Given the description of an element on the screen output the (x, y) to click on. 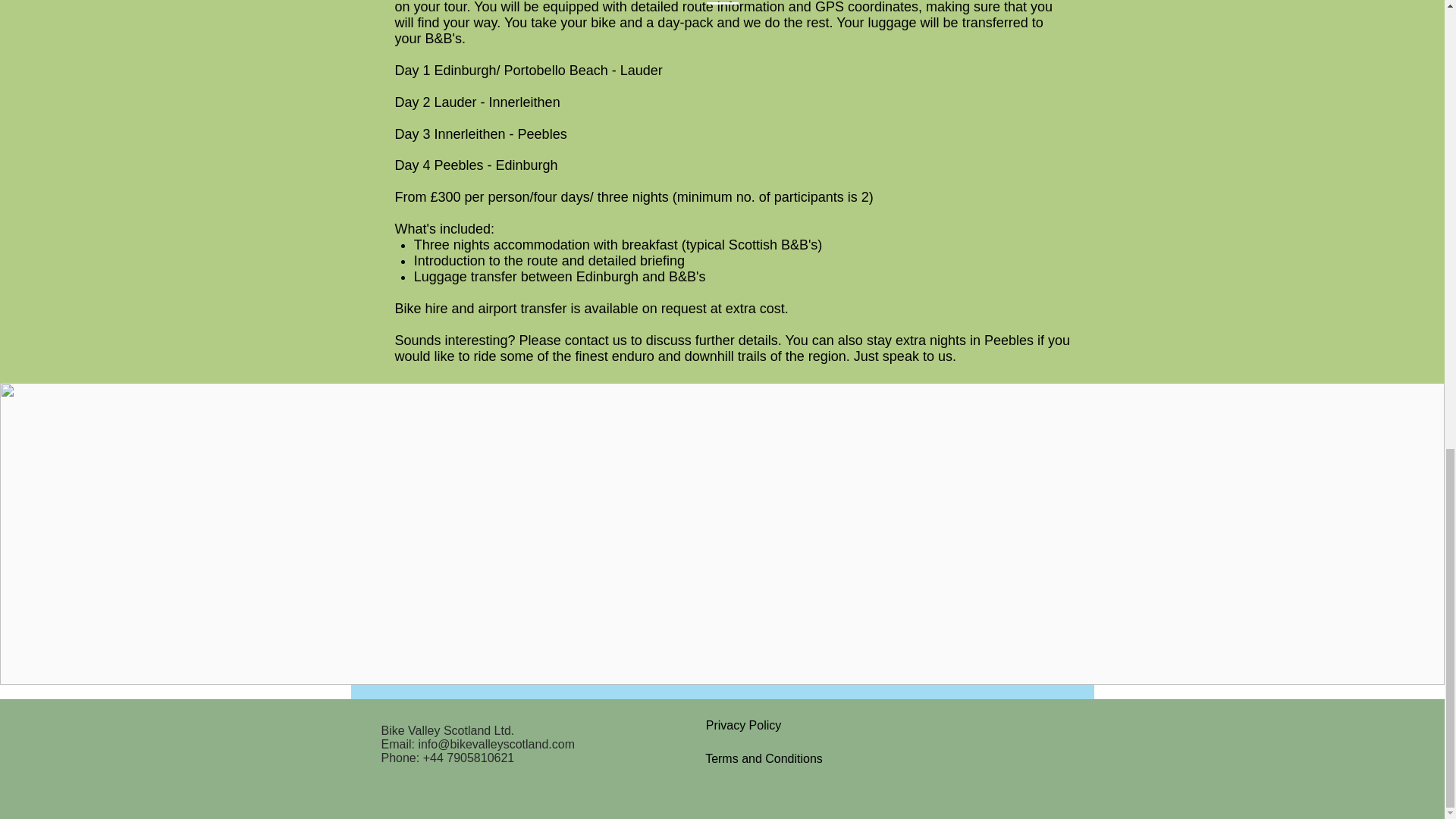
Privacy Policy (743, 725)
Terms and Conditions (763, 758)
